Given the description of an element on the screen output the (x, y) to click on. 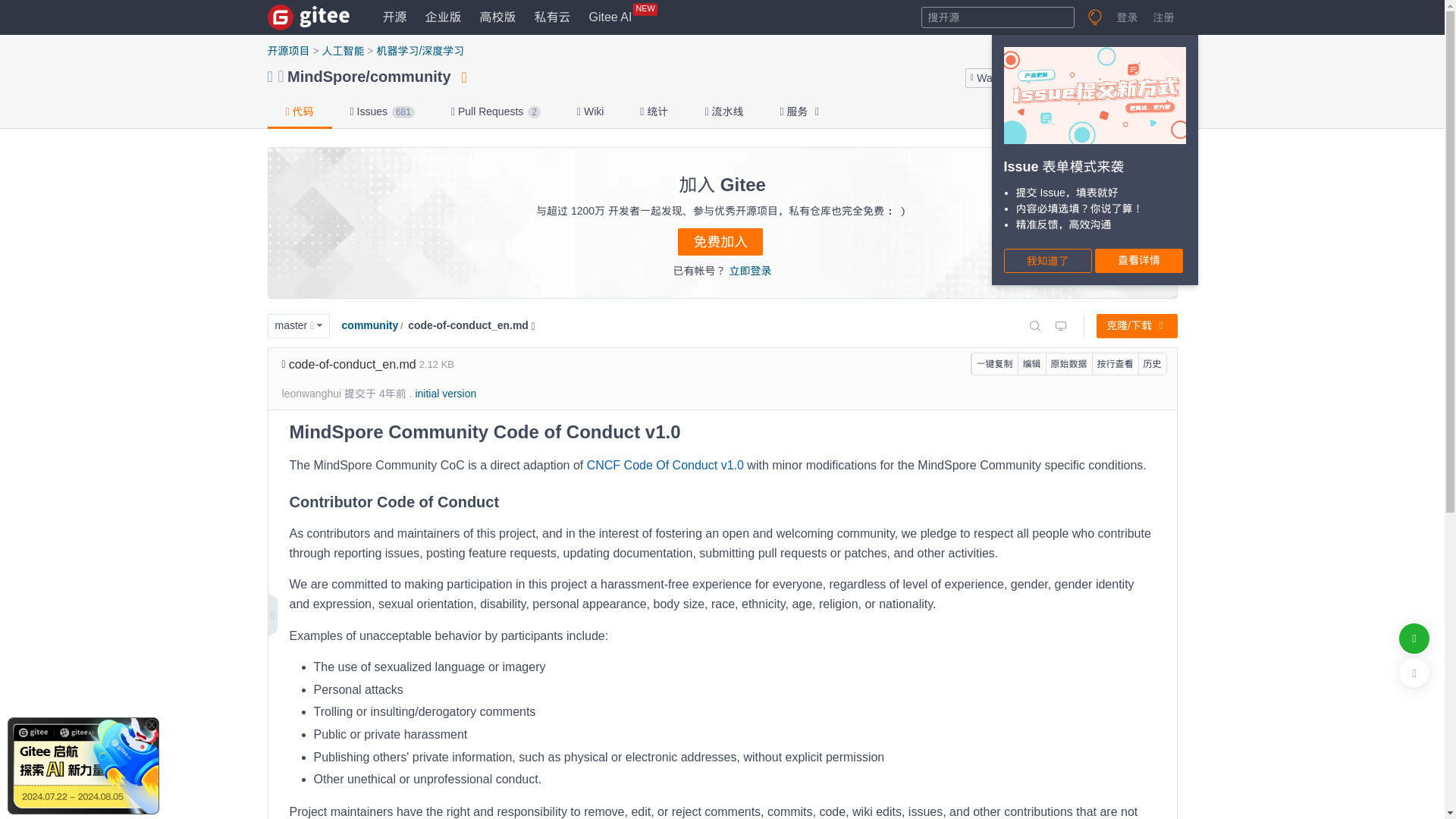
Issues 681 (381, 112)
1K (1097, 77)
Pull Requests 2 (495, 112)
Star (1068, 77)
MindSpore (325, 76)
Fork (1132, 77)
community (410, 76)
1028 (1097, 77)
246 (1163, 77)
Gitee AI (609, 17)
170 (609, 17)
170 (1030, 77)
246 (1030, 77)
